Given the description of an element on the screen output the (x, y) to click on. 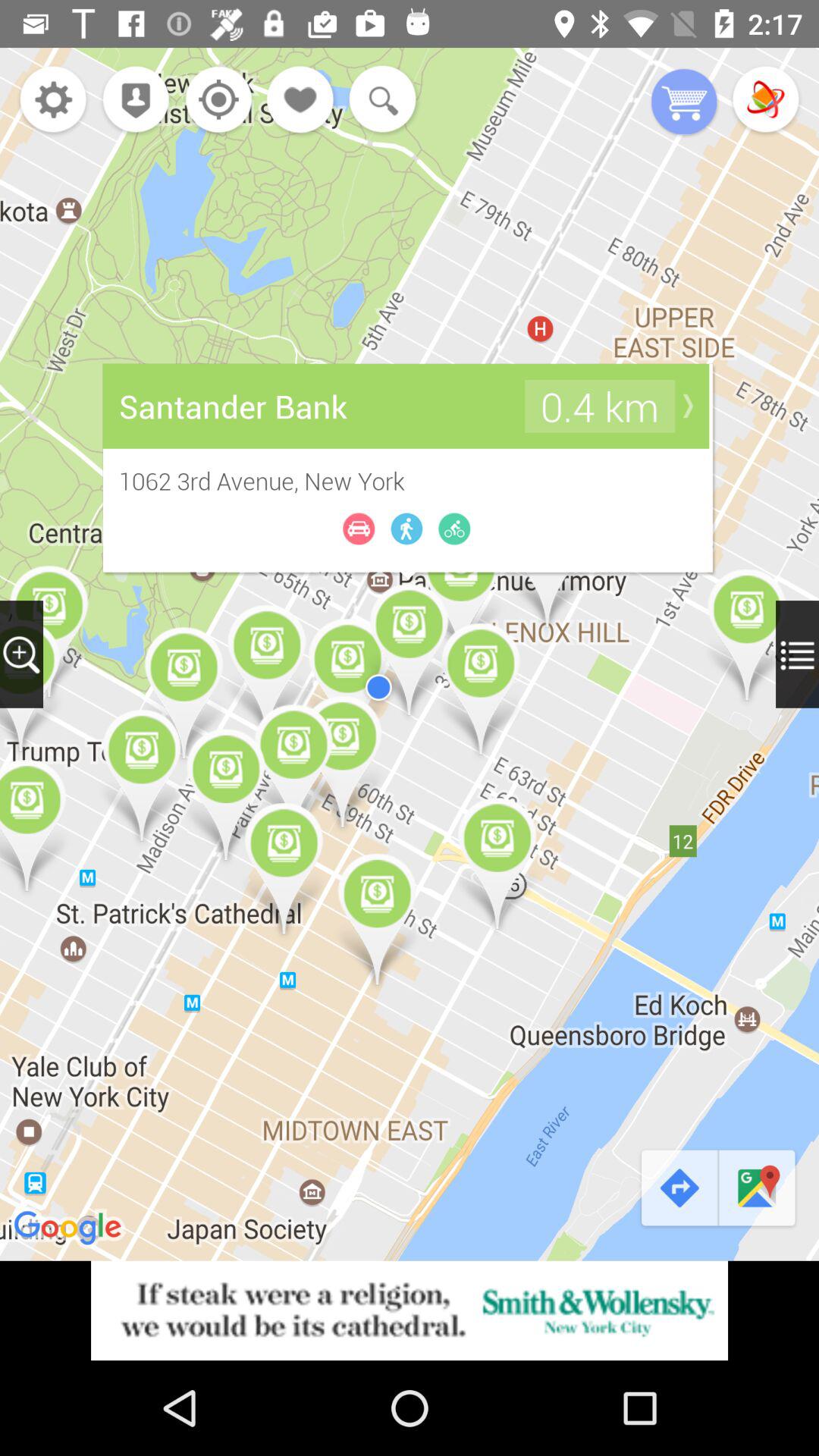
add destination to favorites (300, 101)
